Given the description of an element on the screen output the (x, y) to click on. 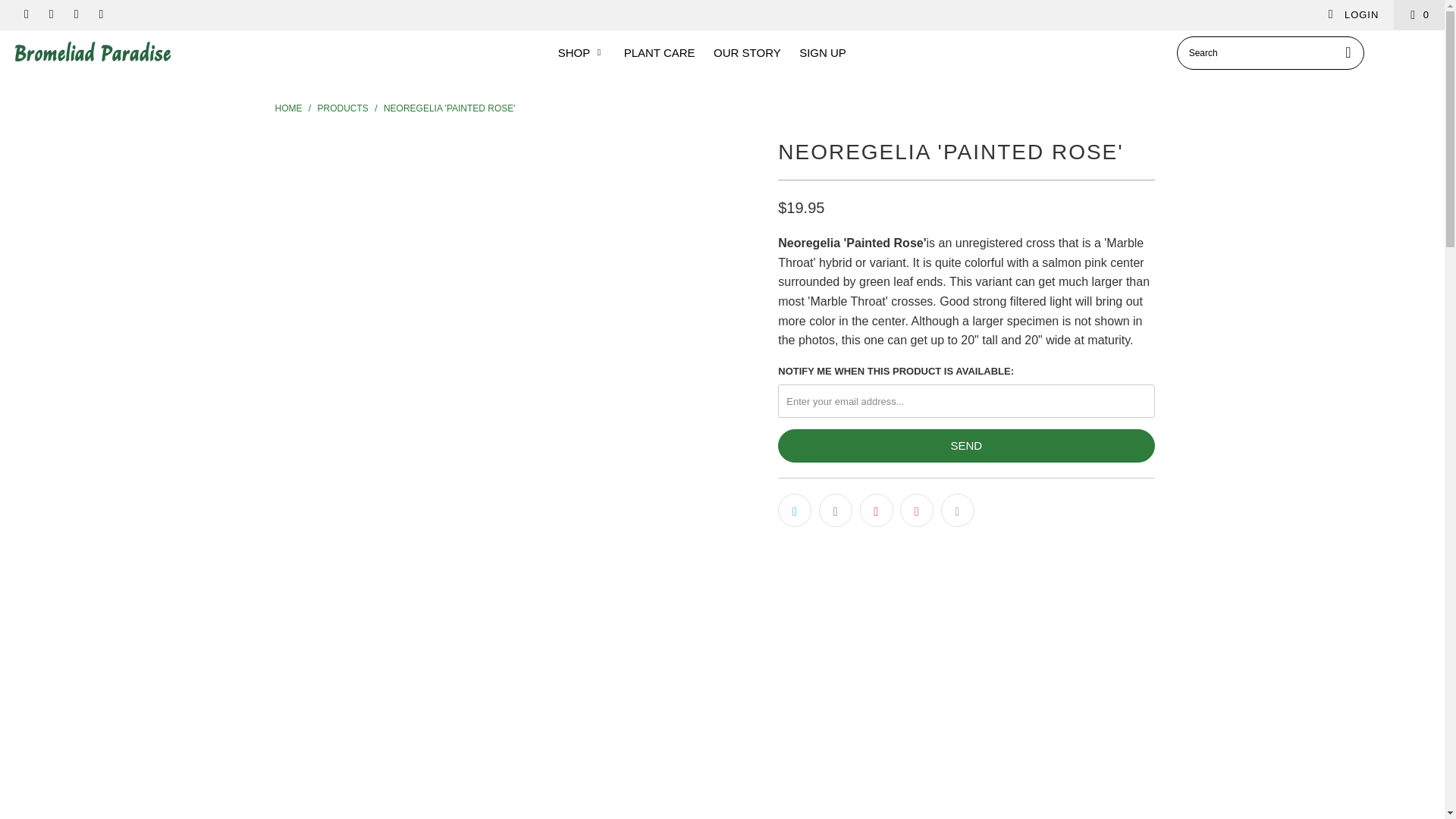
SIGN UP (822, 53)
Email this to a friend (957, 510)
Bromeliad Paradise on Facebook (25, 14)
Share this on Twitter (793, 510)
Share this on Pinterest (876, 510)
LOGIN (1352, 15)
My Account  (1352, 15)
OUR STORY (746, 53)
Products (344, 108)
PLANT CARE (659, 53)
